Given the description of an element on the screen output the (x, y) to click on. 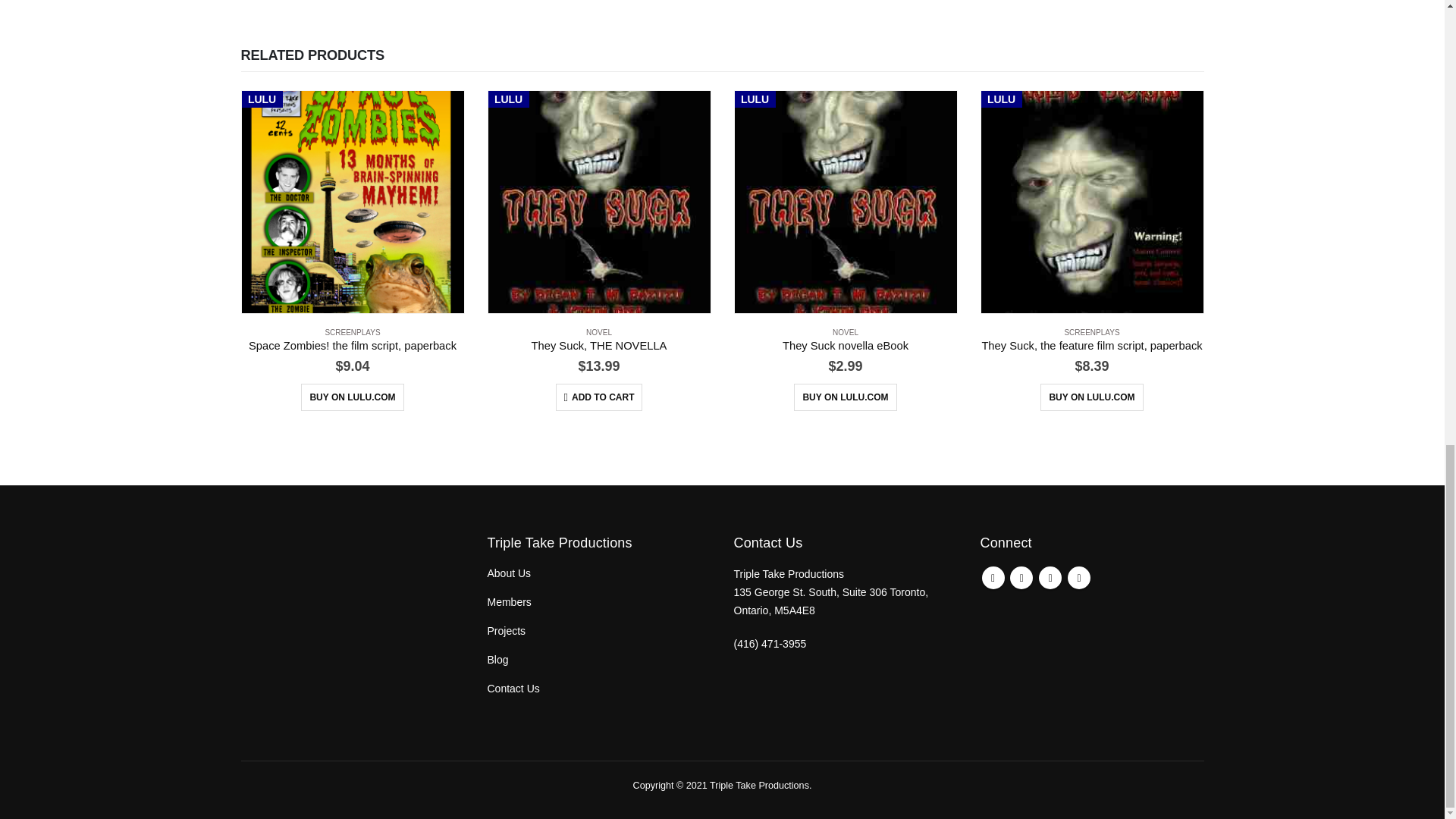
Space Zombies! the film script, paperback (352, 346)
Instagram (1078, 577)
Facebook (992, 577)
LULU (352, 201)
Twitter (1021, 577)
SCREENPLAYS (352, 332)
NOVEL (598, 332)
BUY ON LULU.COM (352, 397)
LULU (598, 201)
Youtube (1050, 577)
